Given the description of an element on the screen output the (x, y) to click on. 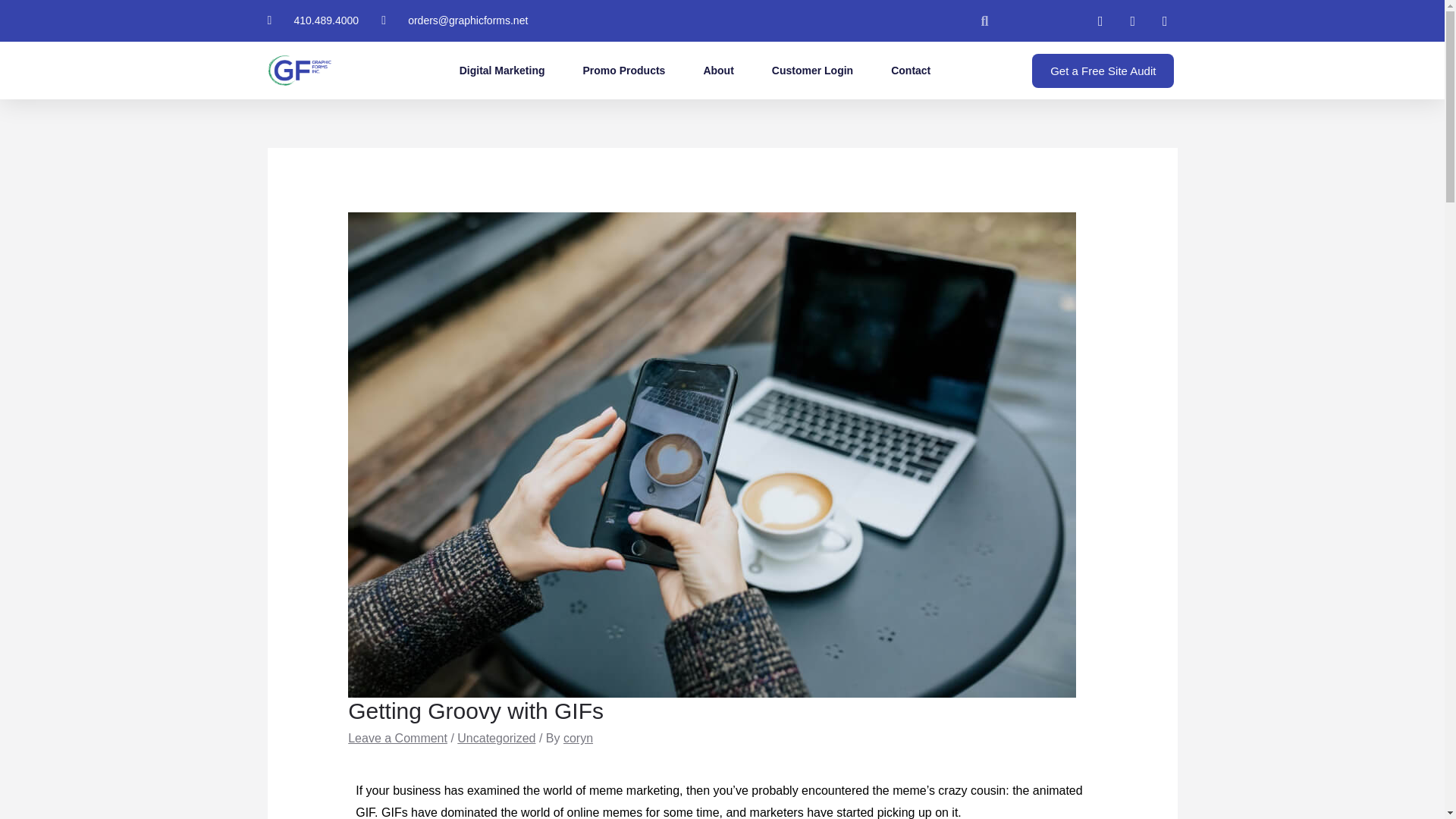
Customer Login (812, 70)
Contact (910, 70)
Digital Marketing (502, 70)
410.489.4000 (312, 20)
About (718, 70)
View all posts by coryn (577, 738)
Promo Products (623, 70)
